Given the description of an element on the screen output the (x, y) to click on. 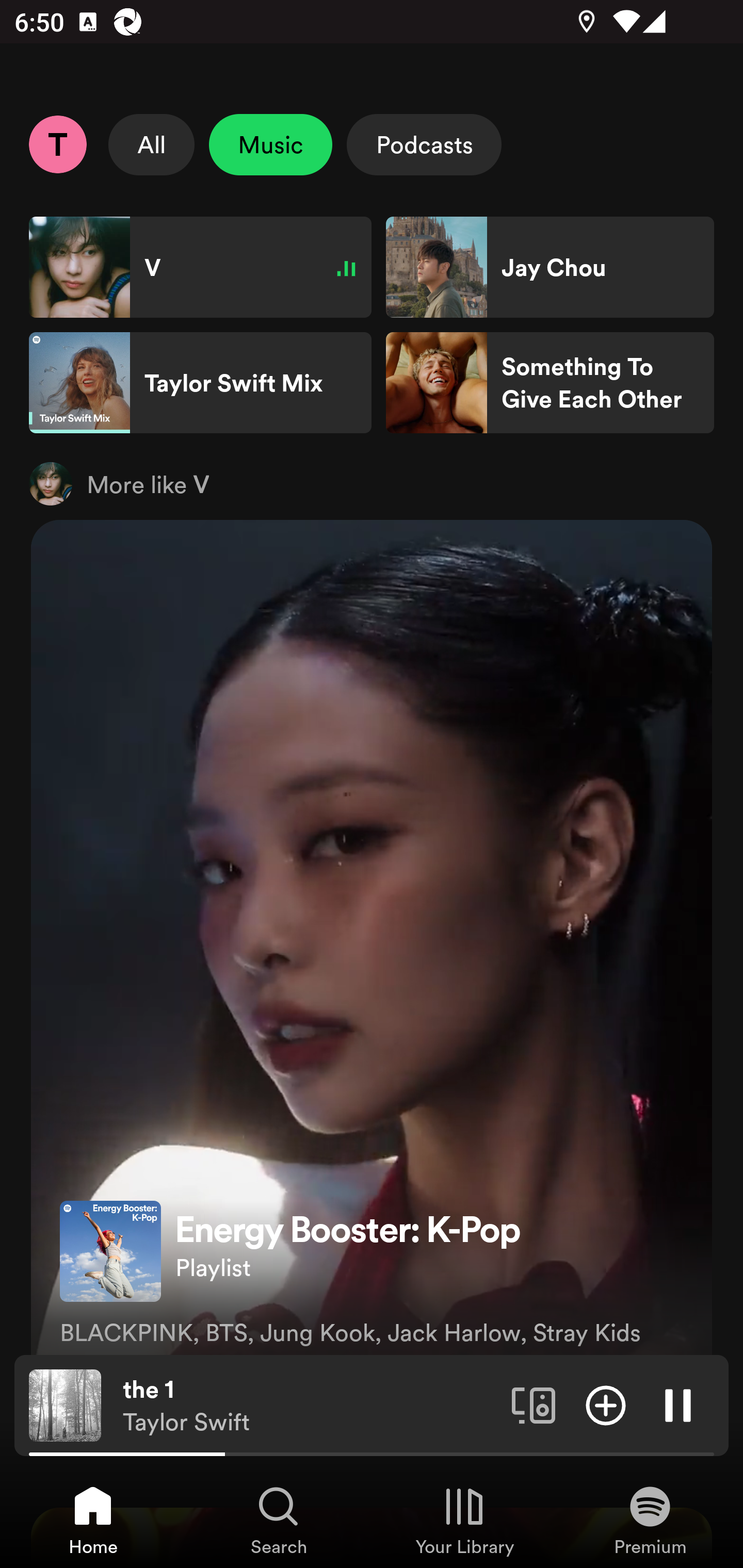
Profile (57, 144)
All Select All (151, 144)
Music Unselect Music (270, 144)
Podcasts Select Podcasts (423, 144)
V Shortcut V Playing (199, 267)
Jay Chou Shortcut Jay Chou (549, 267)
Taylor Swift Mix Shortcut Taylor Swift Mix (199, 382)
More like V (371, 483)
the 1 Taylor Swift (309, 1405)
The cover art of the currently playing track (64, 1404)
Connect to a device. Opens the devices menu (533, 1404)
Add item (605, 1404)
Pause (677, 1404)
Home, Tab 1 of 4 Home Home (92, 1519)
Search, Tab 2 of 4 Search Search (278, 1519)
Your Library, Tab 3 of 4 Your Library Your Library (464, 1519)
Premium, Tab 4 of 4 Premium Premium (650, 1519)
